Given the description of an element on the screen output the (x, y) to click on. 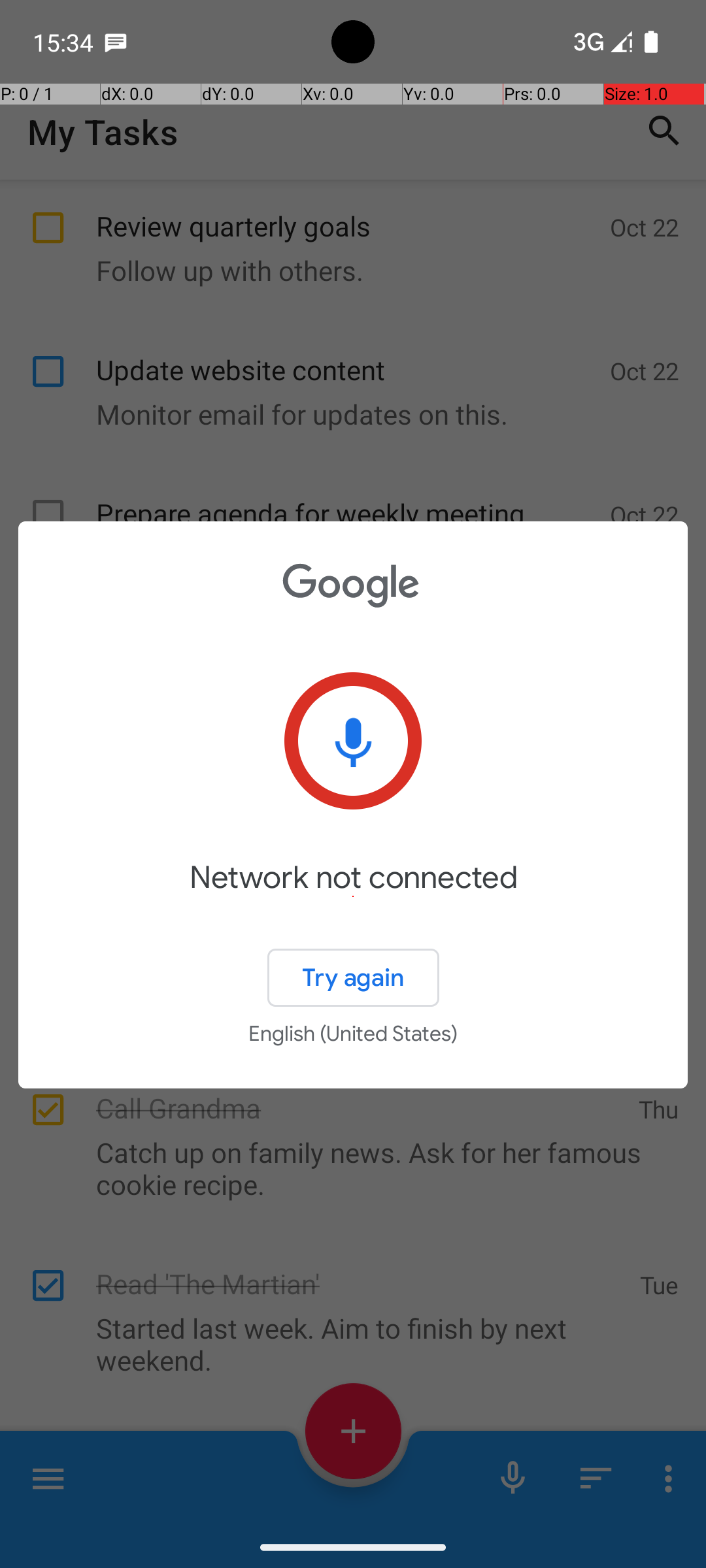
Network not connected Element type: android.widget.TextView (352, 895)
Try again Element type: android.widget.Button (353, 977)
